Given the description of an element on the screen output the (x, y) to click on. 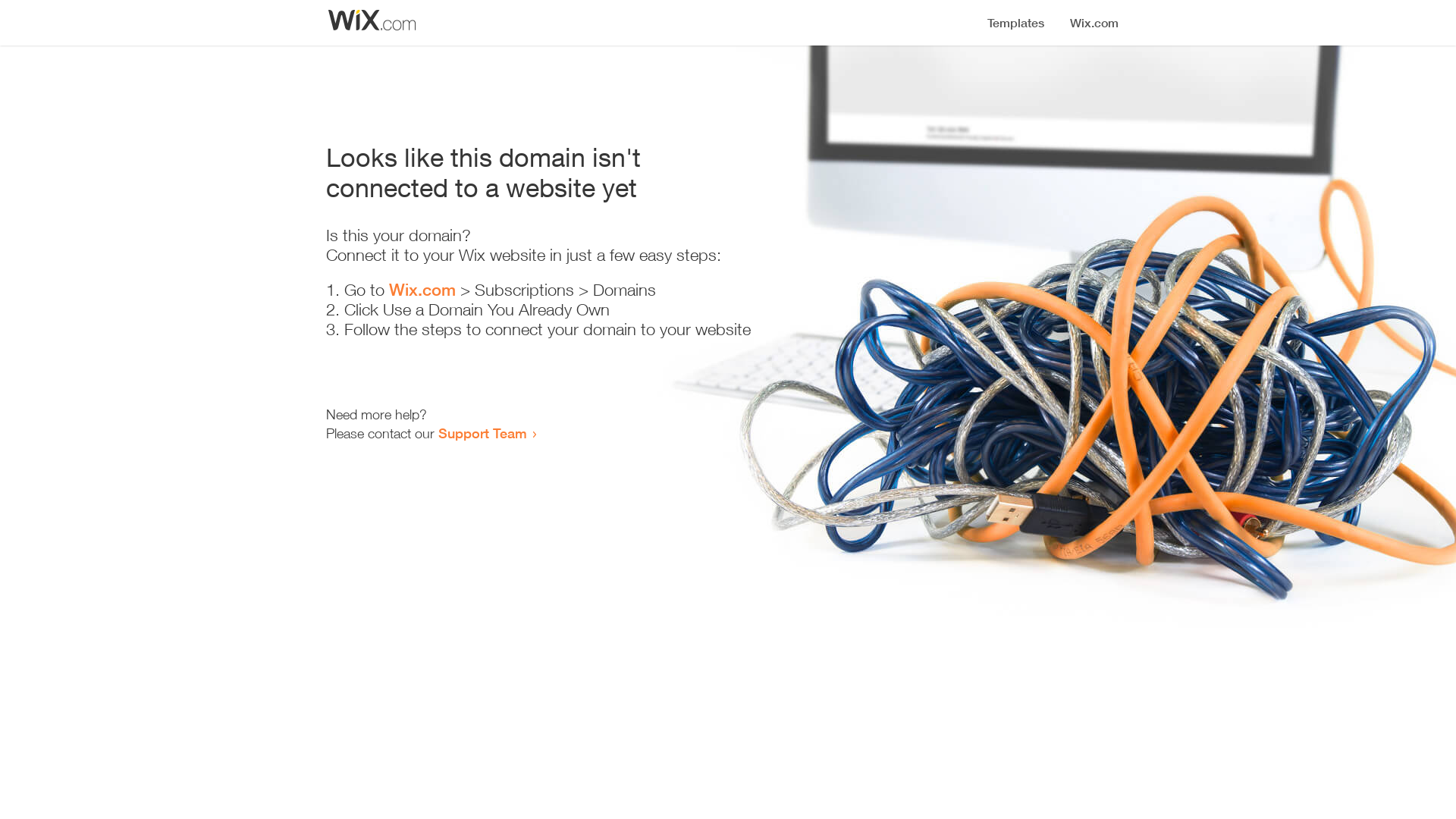
Support Team Element type: text (482, 432)
Wix.com Element type: text (422, 289)
